Given the description of an element on the screen output the (x, y) to click on. 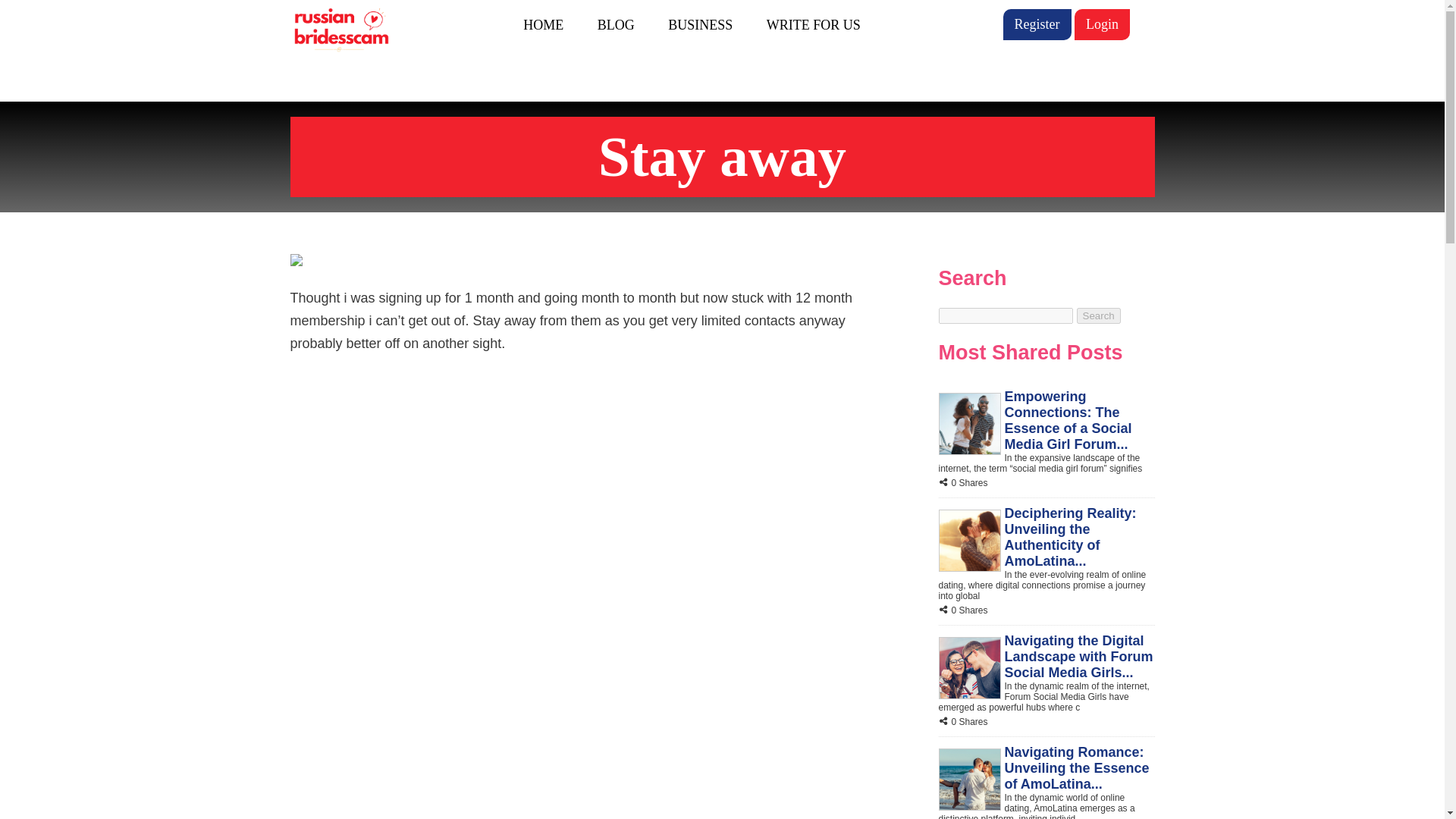
Search (1099, 315)
BLOG (615, 24)
BUSINESS (700, 24)
Search (1099, 315)
WRITE FOR US (813, 24)
HOME (542, 24)
Register (1036, 24)
Russian Brides Scam Online (340, 29)
